Given the description of an element on the screen output the (x, y) to click on. 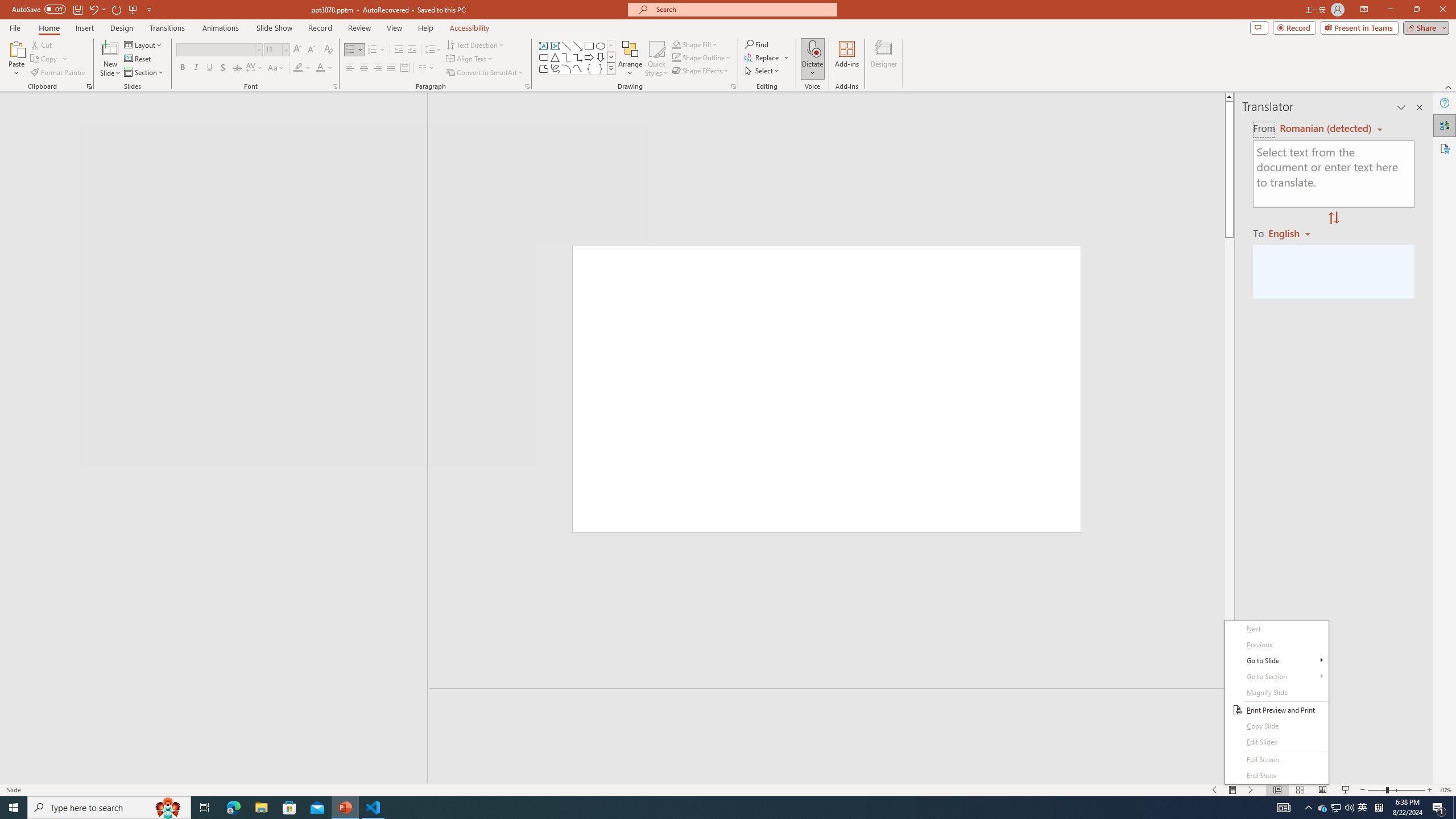
AutomationID: ShapesInsertGallery (576, 57)
Paragraph... (526, 85)
Left Brace (589, 68)
Previous (1276, 644)
Right Brace (600, 68)
